Given the description of an element on the screen output the (x, y) to click on. 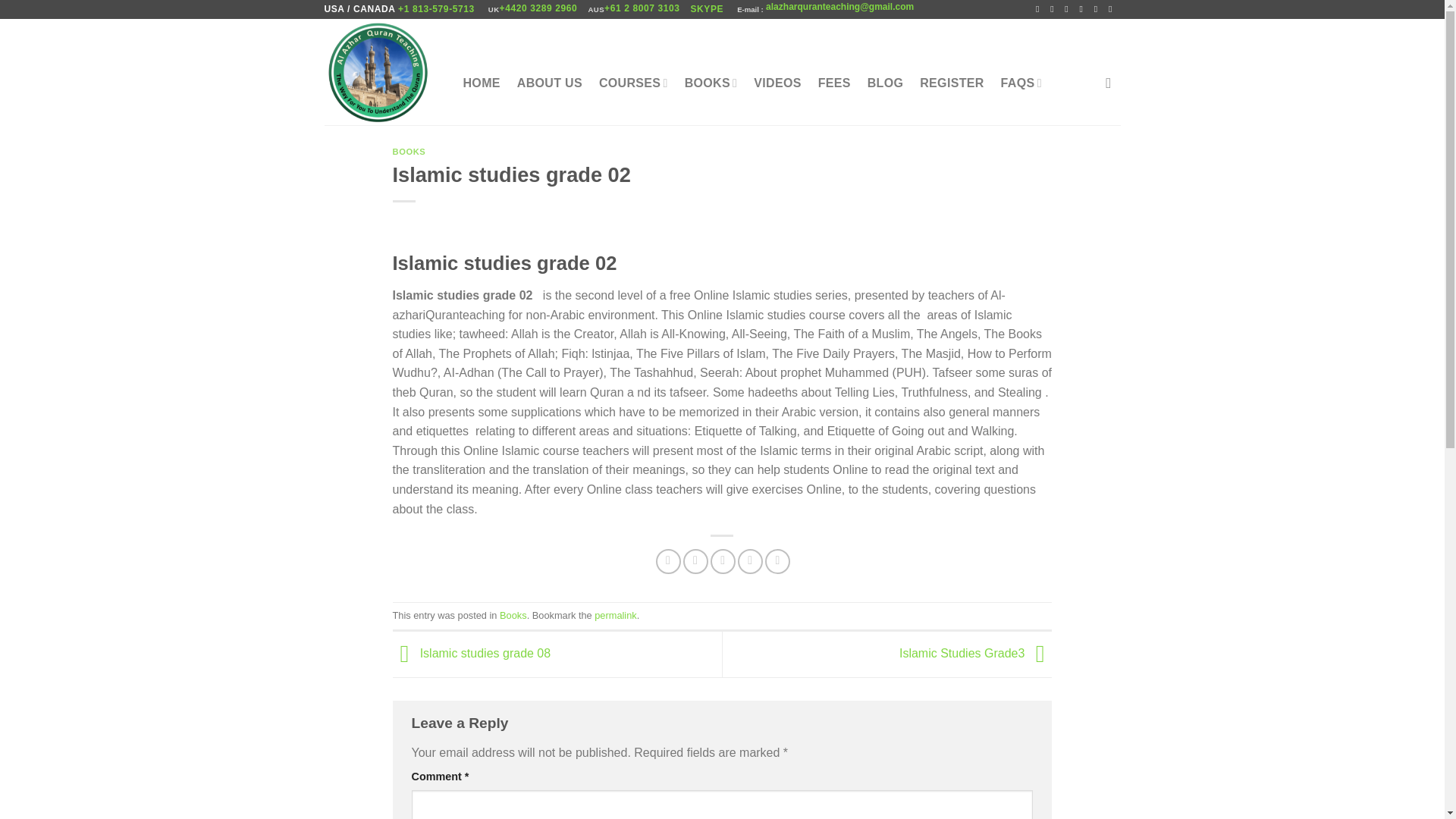
Email to a Friend (722, 561)
AUS (596, 9)
Share on LinkedIn (777, 561)
SKYPE (708, 9)
Share on Facebook (668, 561)
Share on Twitter (694, 561)
E-mail : (749, 9)
Al-Azhar Quran Teaching - Learn Quran from your Home (378, 72)
Pin on Pinterest (750, 561)
